Given the description of an element on the screen output the (x, y) to click on. 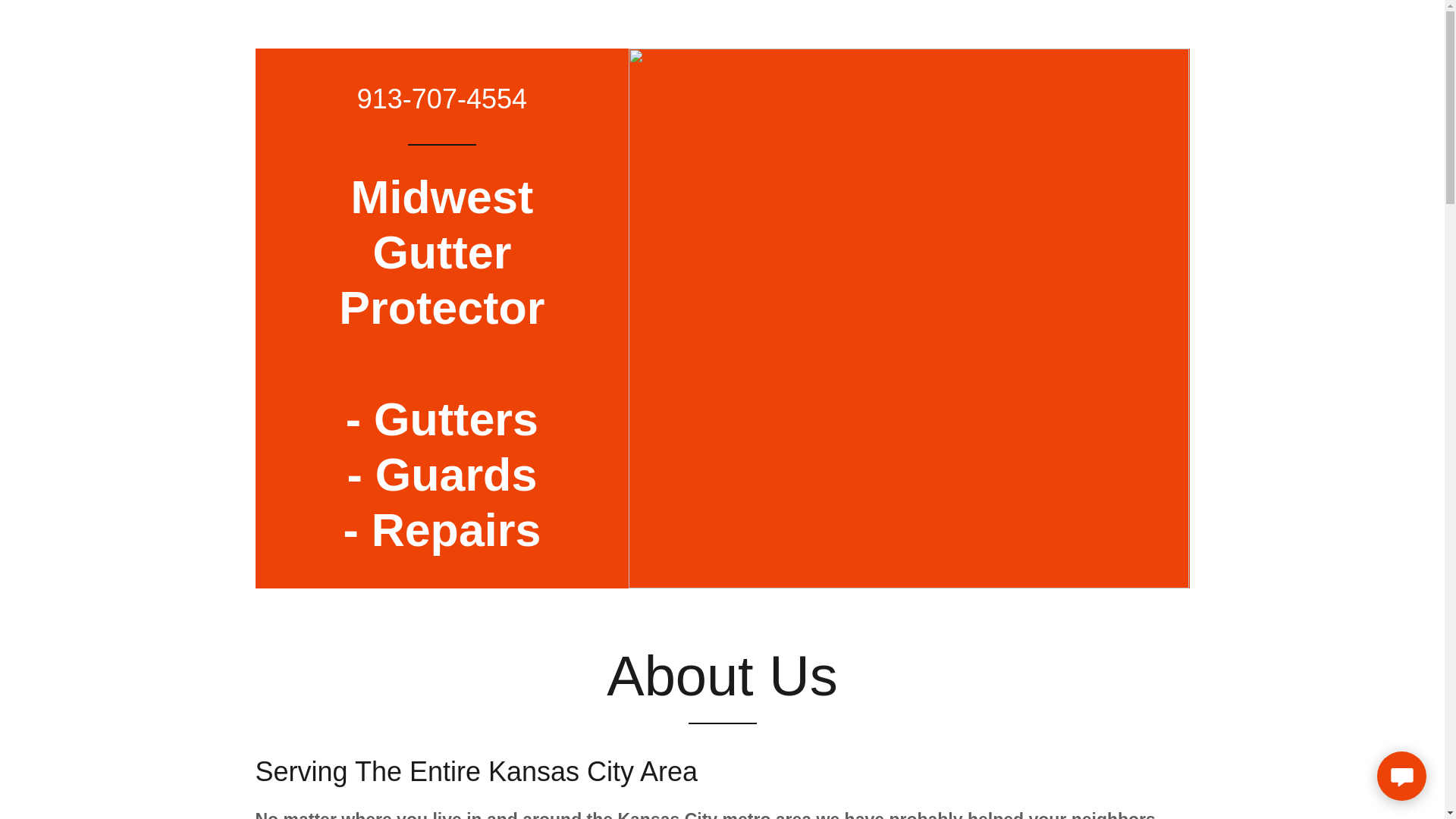
913-707-4554 (441, 540)
